Given the description of an element on the screen output the (x, y) to click on. 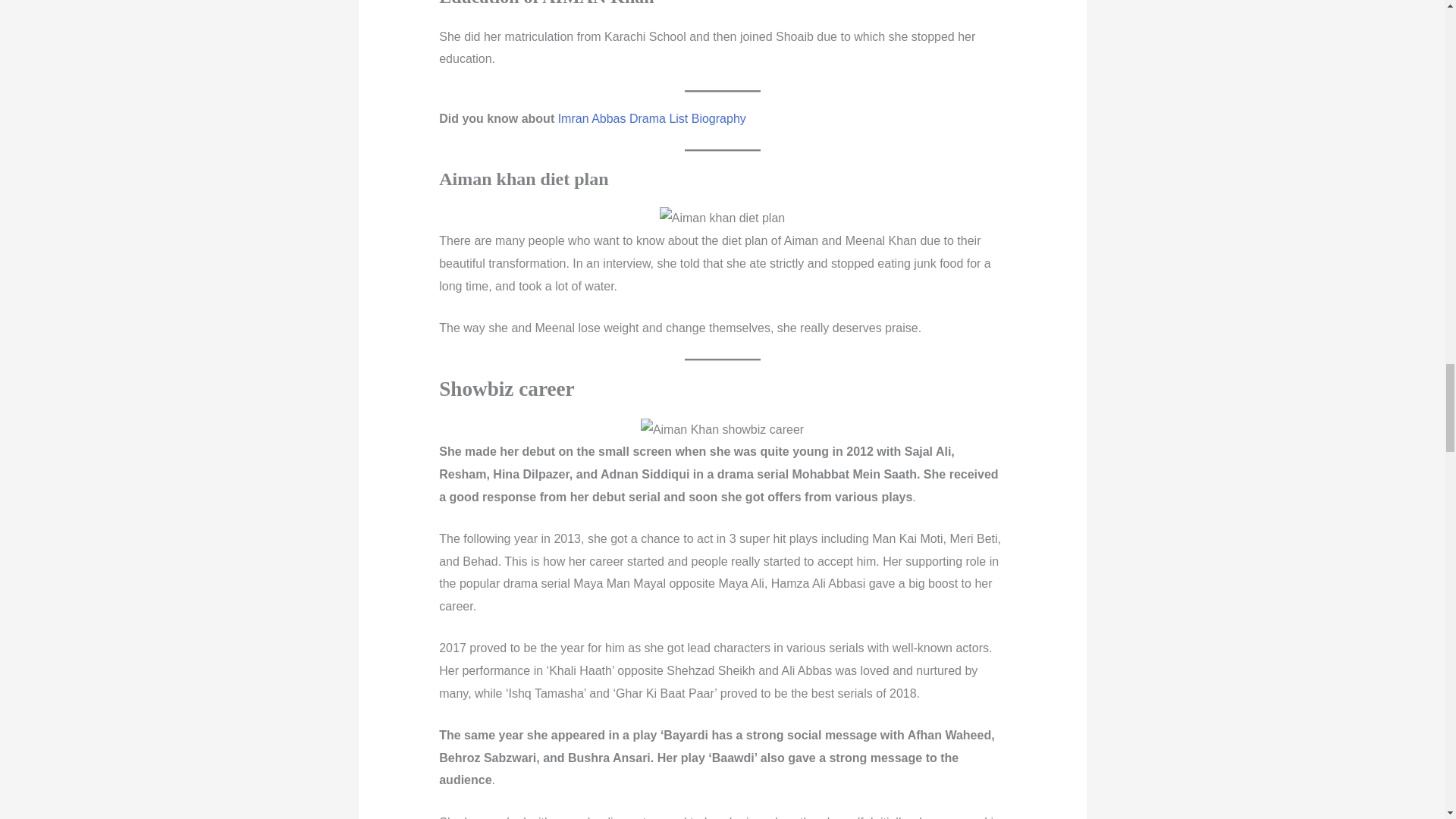
Aiman khan diet plan (721, 218)
Imran Abbas Drama List Biography (651, 118)
Aiman Khan showbiz career (721, 429)
